Given the description of an element on the screen output the (x, y) to click on. 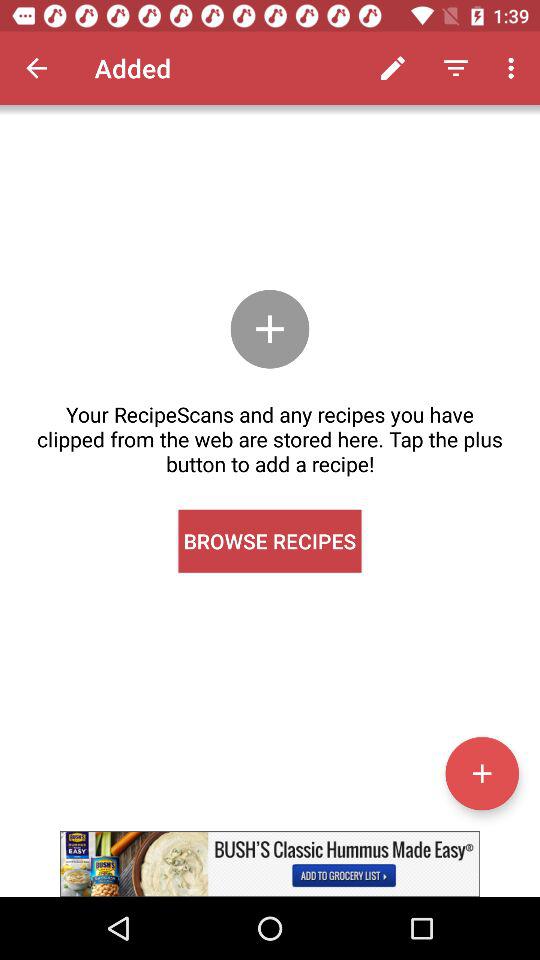
advertising (270, 864)
